Given the description of an element on the screen output the (x, y) to click on. 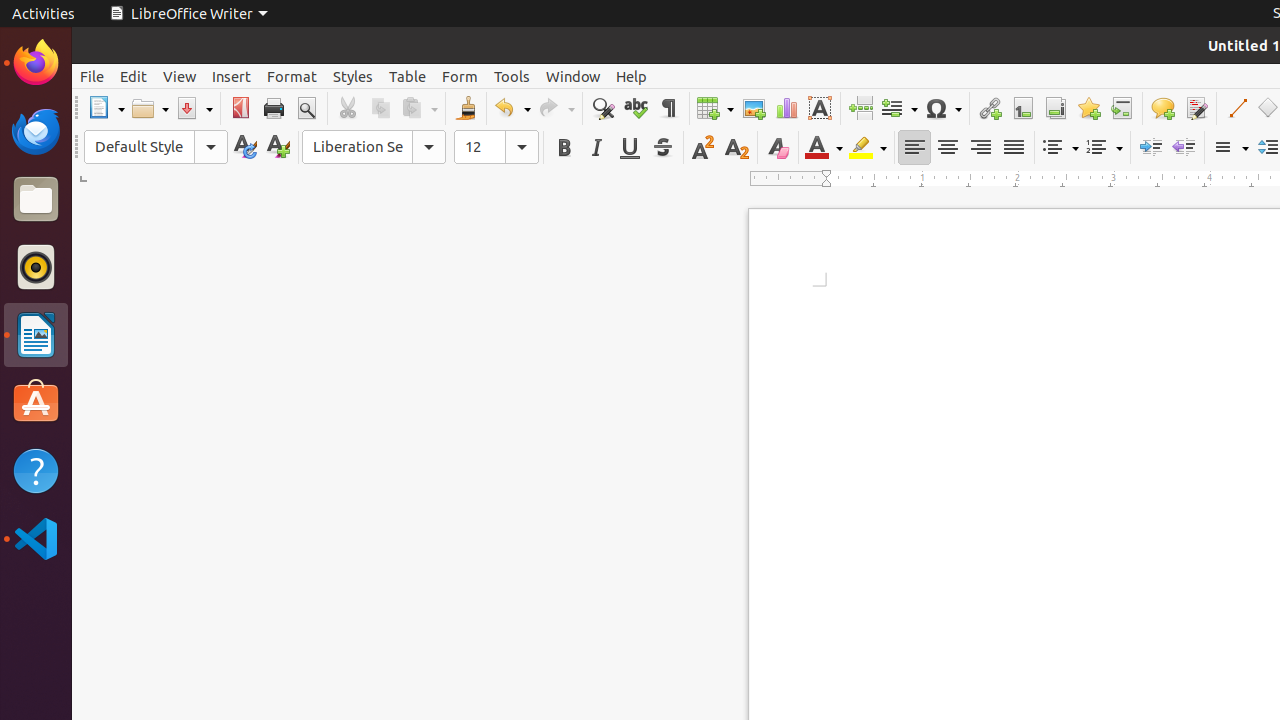
File Element type: menu (92, 76)
Help Element type: push-button (36, 470)
Text Box Element type: push-button (819, 108)
Open Element type: push-button (150, 108)
Numbering Element type: push-button (1104, 147)
